Given the description of an element on the screen output the (x, y) to click on. 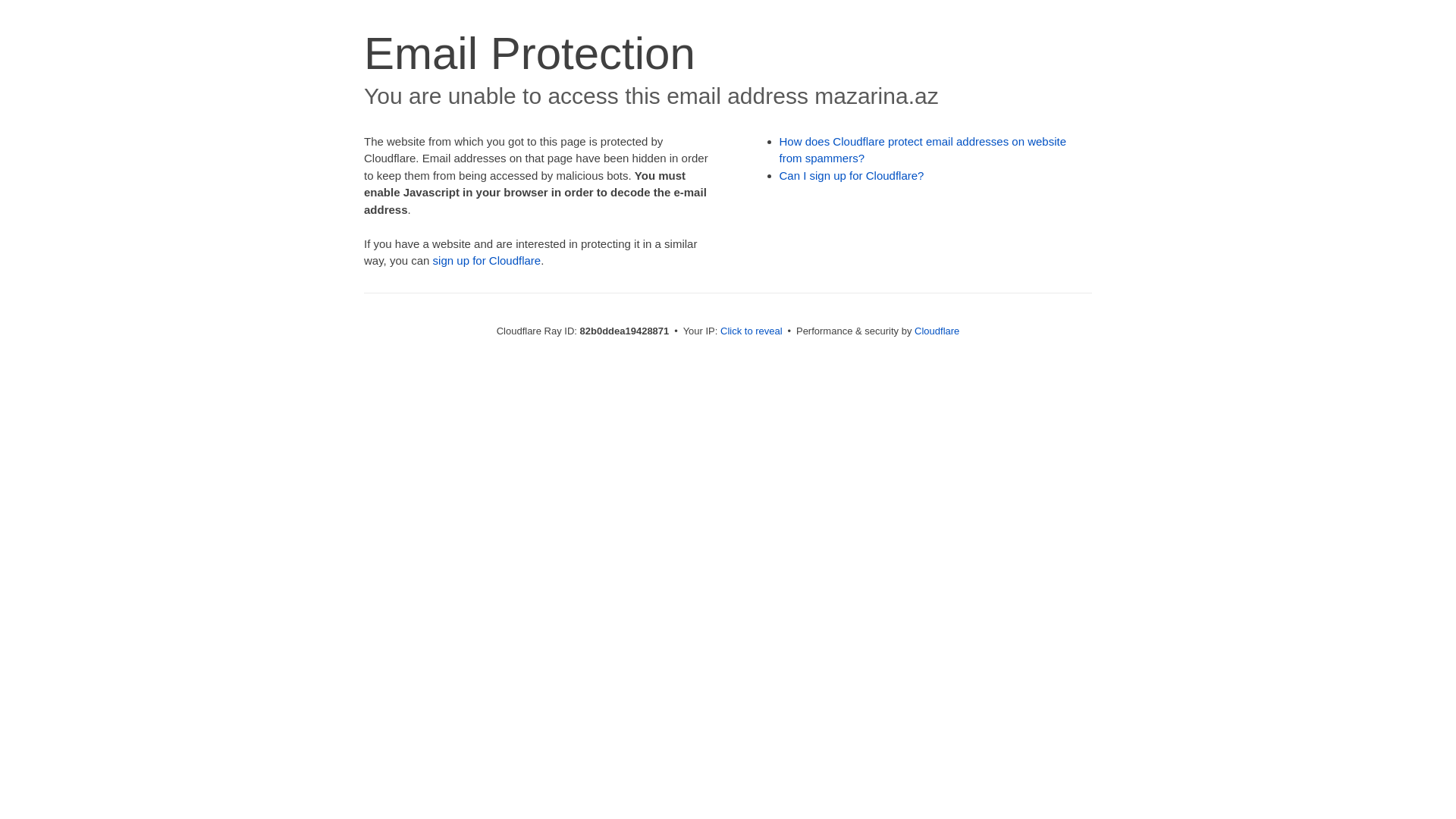
Can I sign up for Cloudflare? Element type: text (851, 175)
Click to reveal Element type: text (751, 330)
Cloudflare Element type: text (936, 330)
sign up for Cloudflare Element type: text (487, 260)
